Given the description of an element on the screen output the (x, y) to click on. 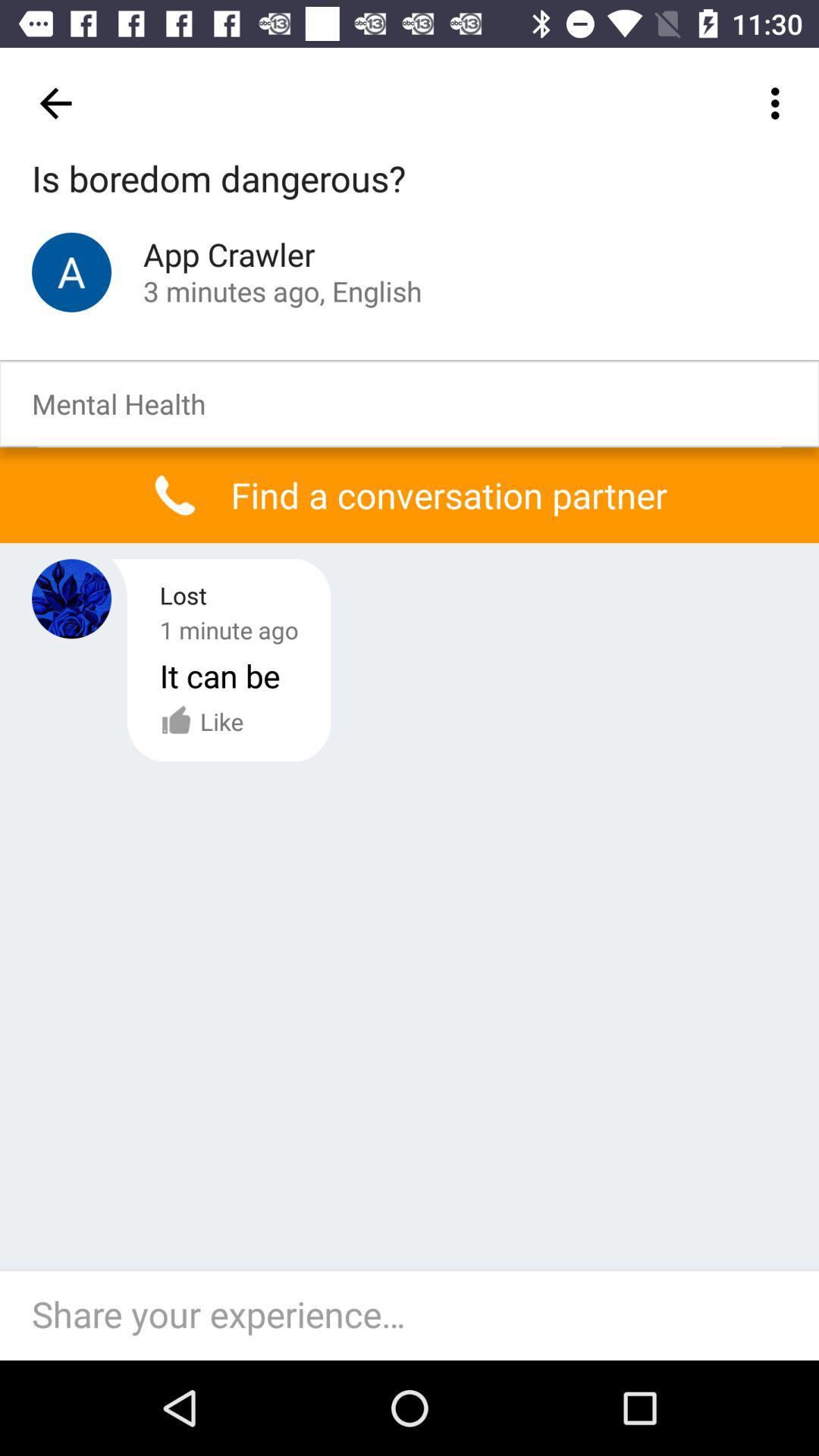
select icon to the right of is boredom dangerous? item (779, 103)
